Given the description of an element on the screen output the (x, y) to click on. 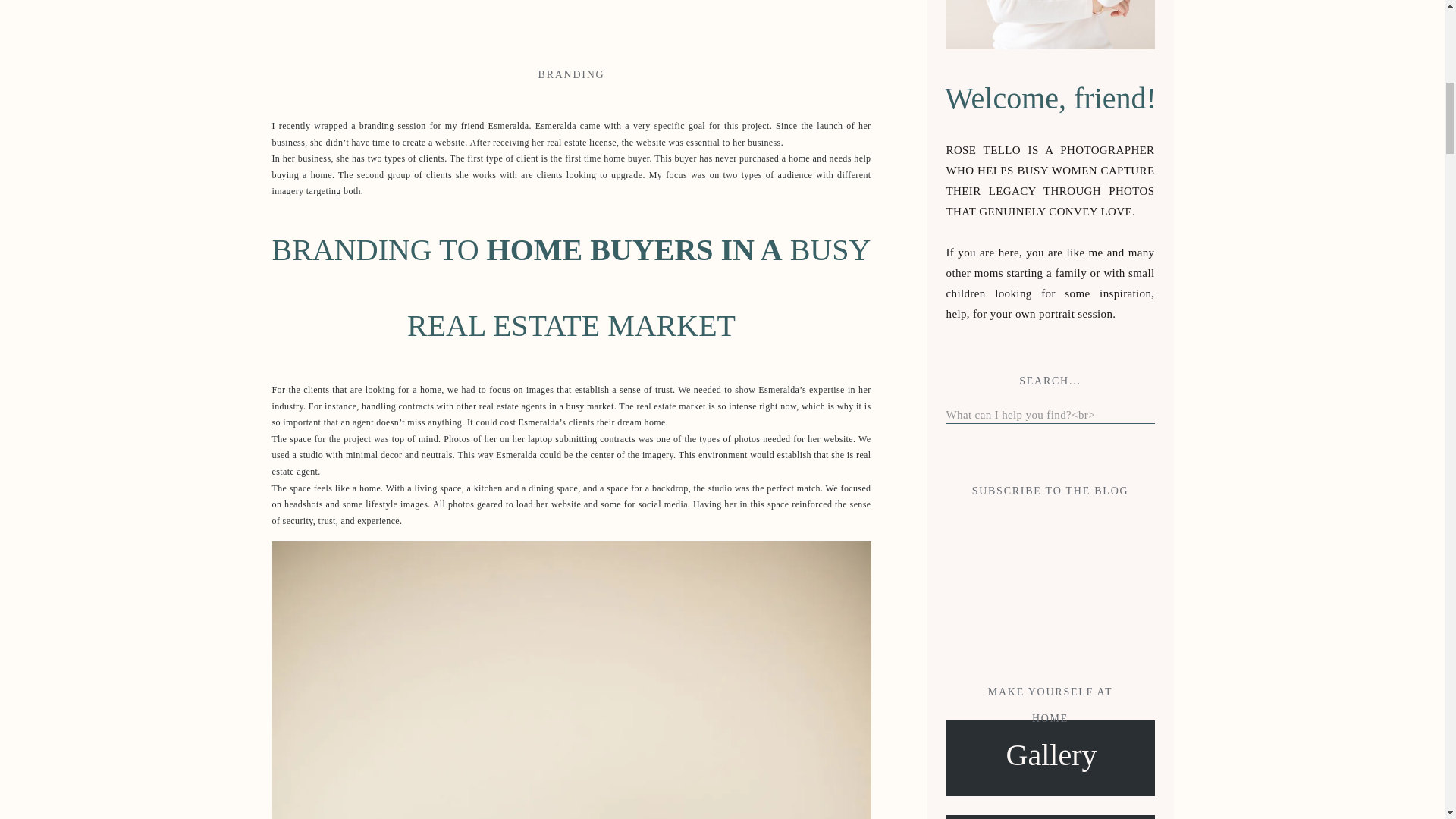
Gallery (1051, 757)
BRANDING (571, 74)
